Given the description of an element on the screen output the (x, y) to click on. 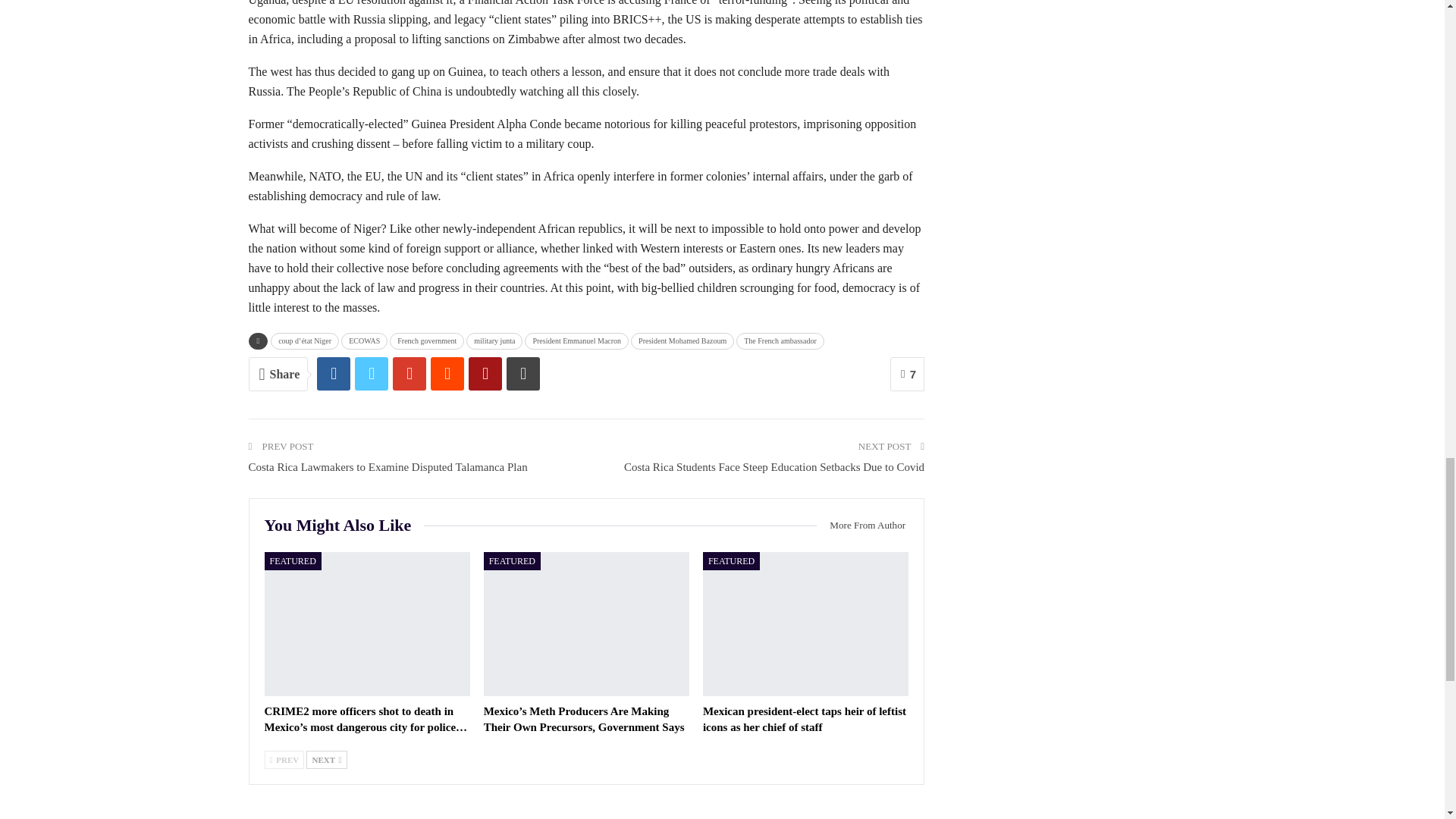
Next (325, 760)
Previous (283, 760)
